Given the description of an element on the screen output the (x, y) to click on. 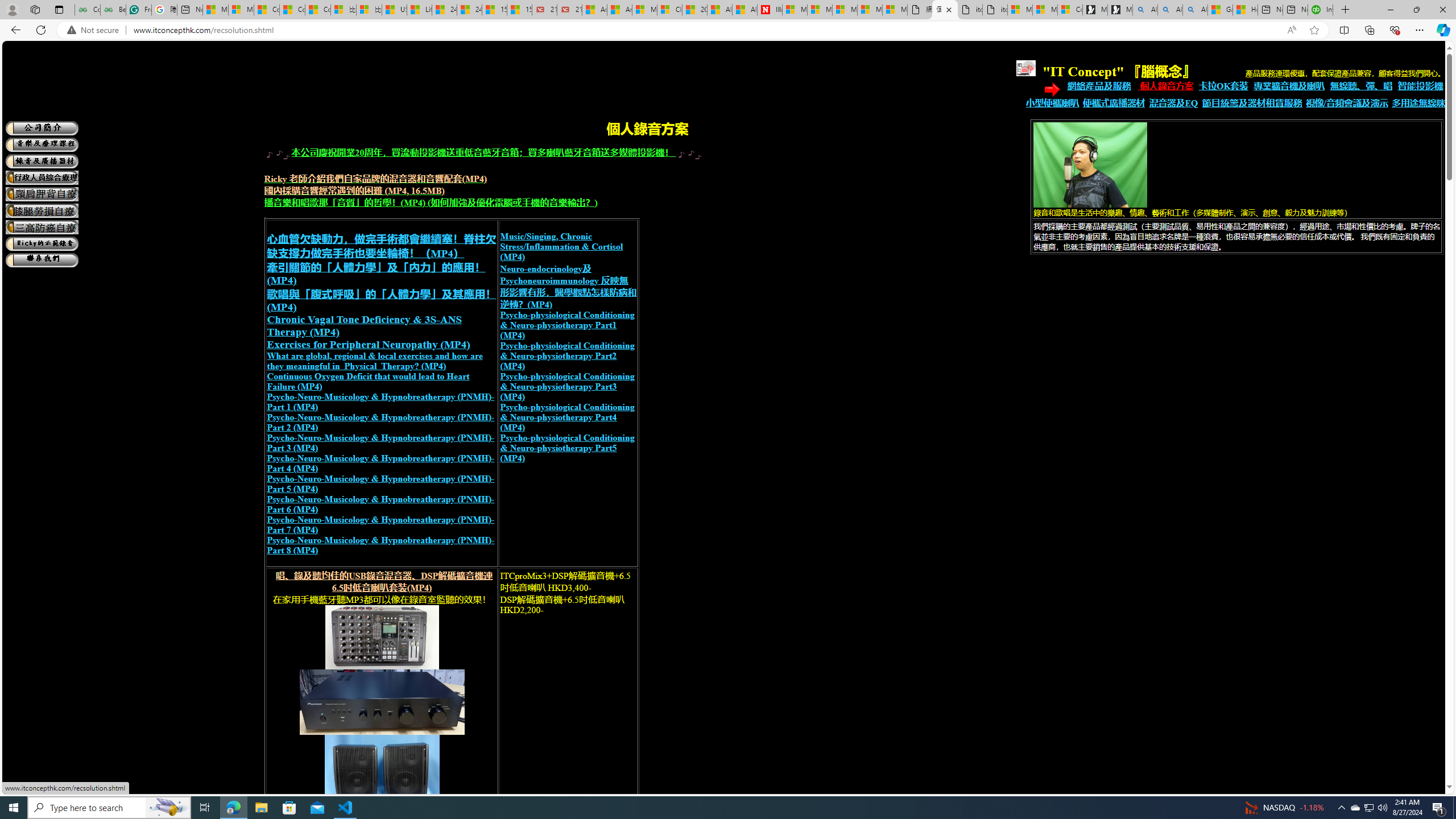
recording mixer (381, 637)
How to Use a TV as a Computer Monitor (1244, 9)
Exercises for Peripheral Neuropathy (MP4) (368, 344)
Not secure (95, 29)
